Given the description of an element on the screen output the (x, y) to click on. 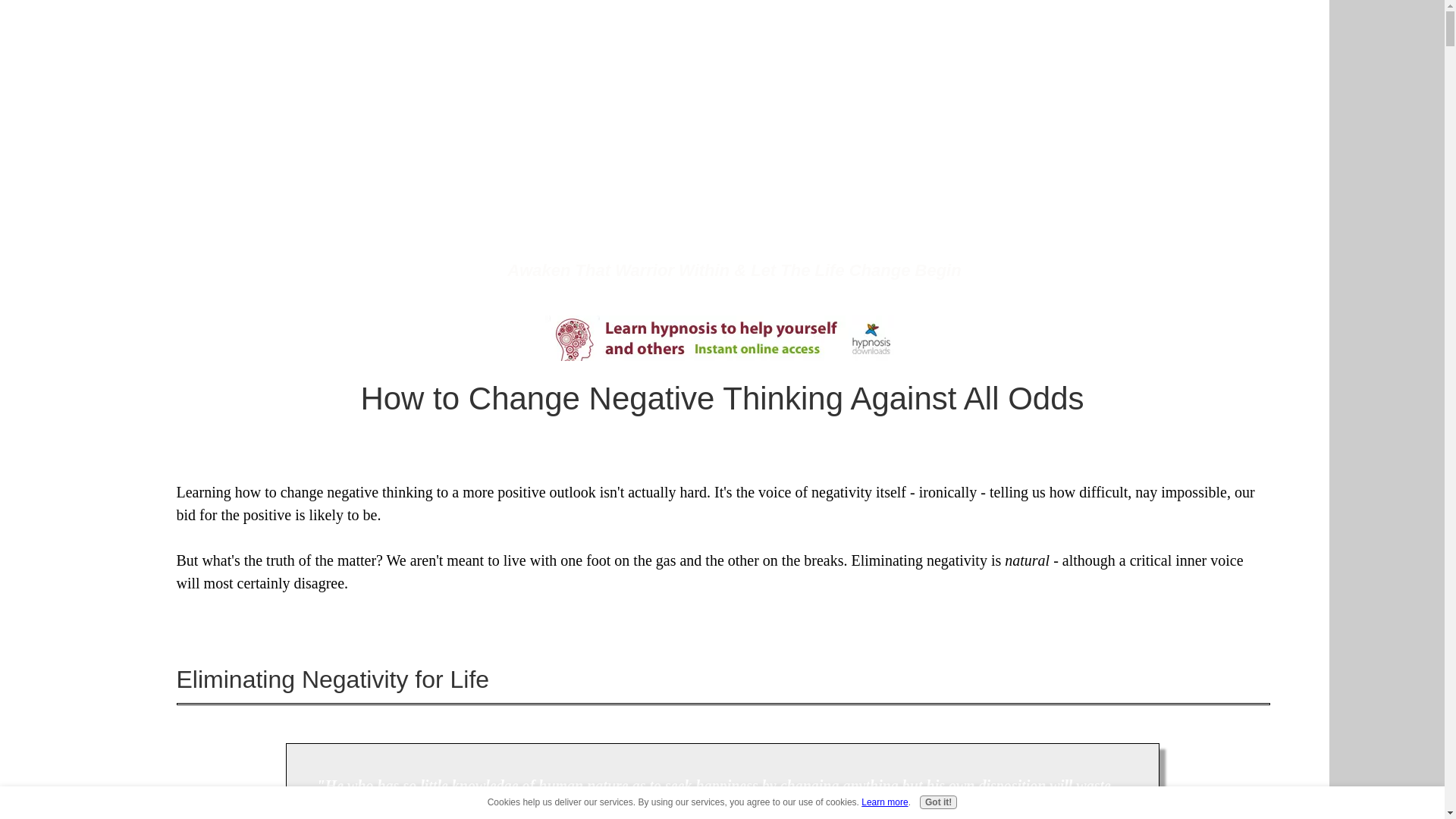
ONE DAY AT A TIME (719, 27)
PATHWAYS TO CHANGE YOUR LIFE (539, 27)
SUBCONSCIOUS SKILLS (989, 27)
HOME (302, 27)
